Given the description of an element on the screen output the (x, y) to click on. 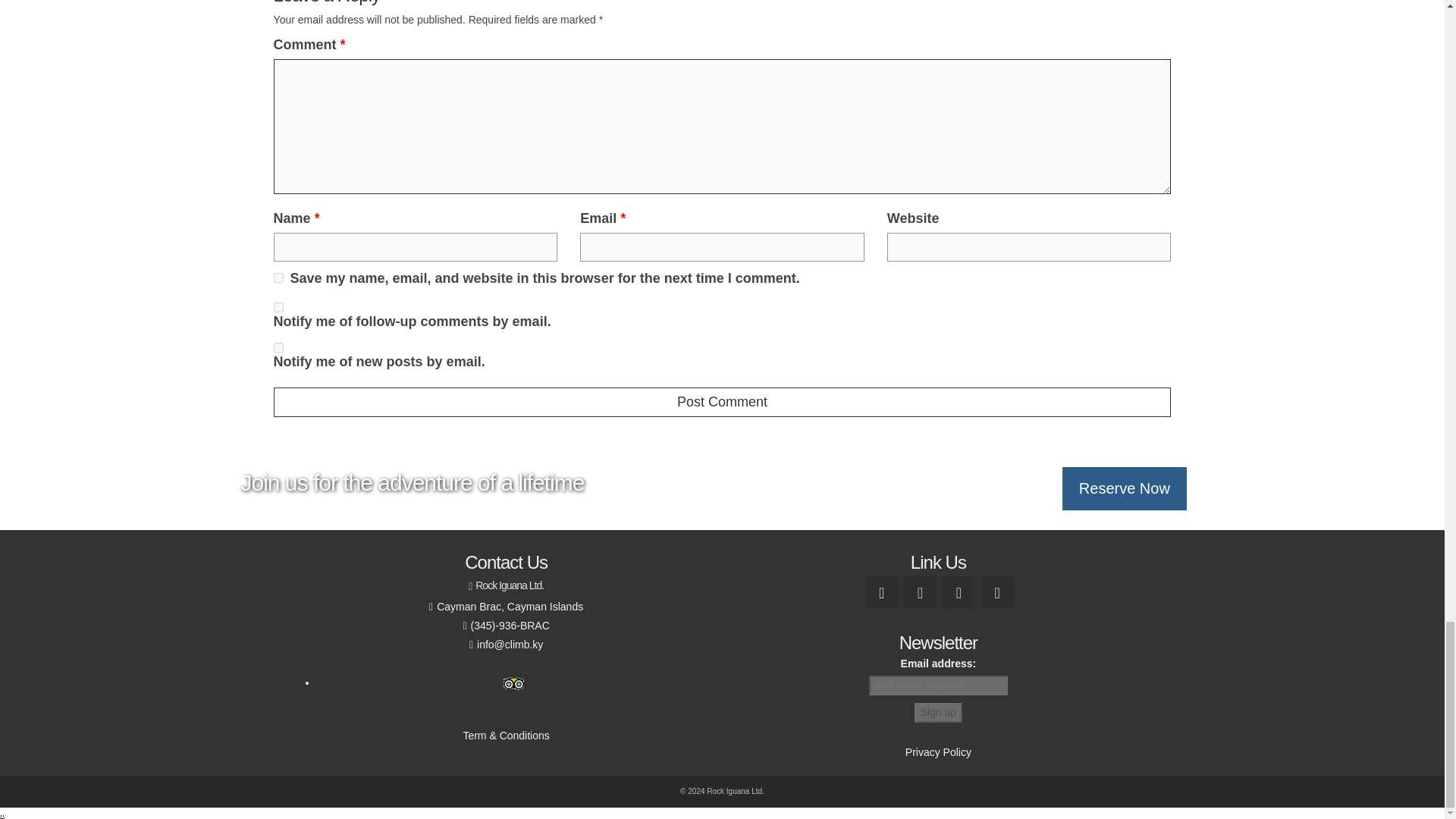
Post Comment (722, 402)
subscribe (278, 307)
subscribe (278, 347)
Sign up (938, 712)
yes (278, 277)
